Given the description of an element on the screen output the (x, y) to click on. 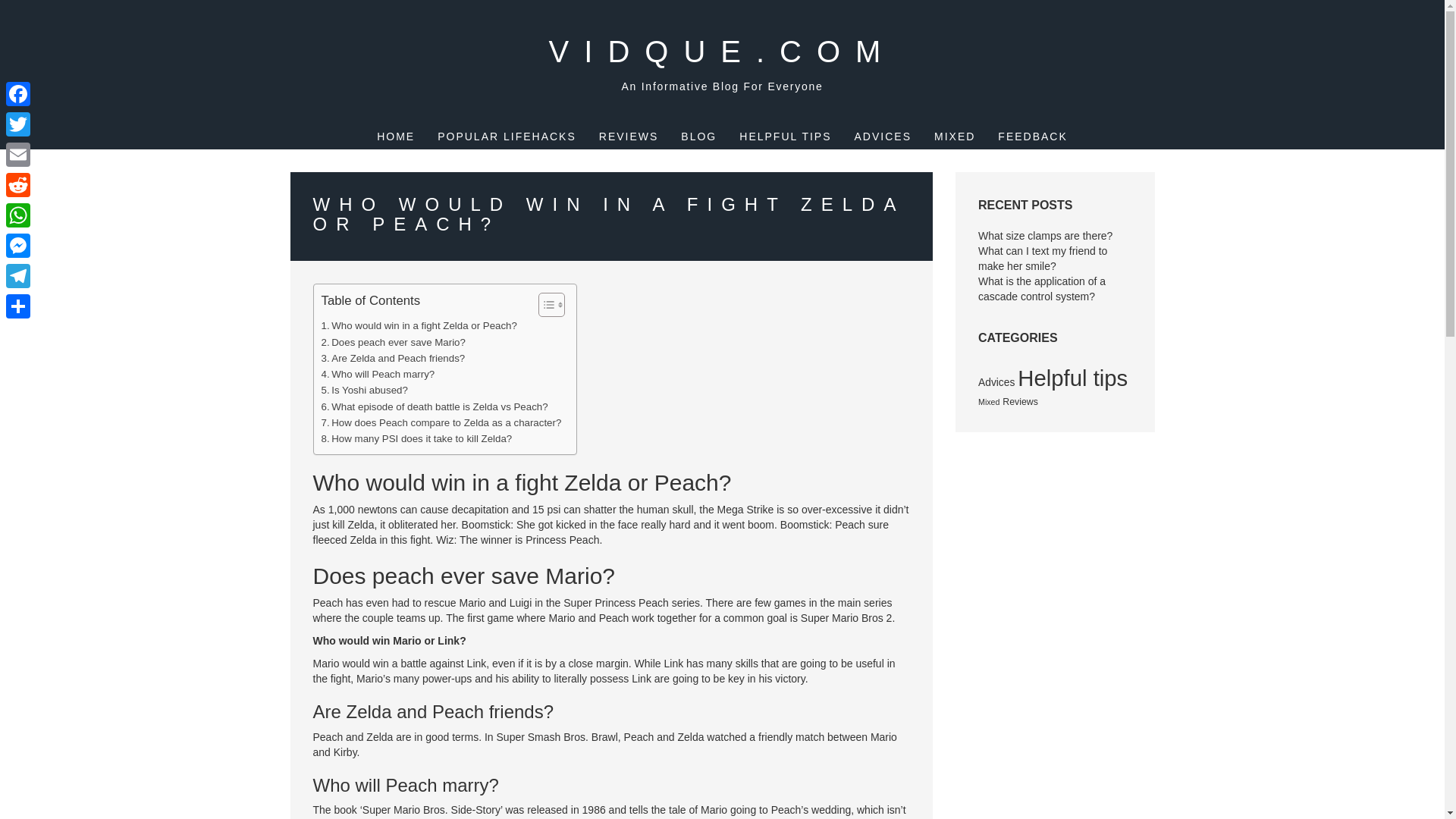
What size clamps are there? (1045, 235)
VIDQUE.COM (721, 51)
FEEDBACK (1032, 136)
Who would win in a fight Zelda or Peach? (418, 325)
Who will Peach marry? (378, 374)
Does peach ever save Mario? (393, 342)
BLOG (698, 136)
What episode of death battle is Zelda vs Peach? (434, 406)
Reddit (17, 184)
HOME (395, 136)
REVIEWS (628, 136)
How many PSI does it take to kill Zelda? (416, 438)
ADVICES (882, 136)
Does peach ever save Mario? (393, 342)
Is Yoshi abused? (364, 390)
